Given the description of an element on the screen output the (x, y) to click on. 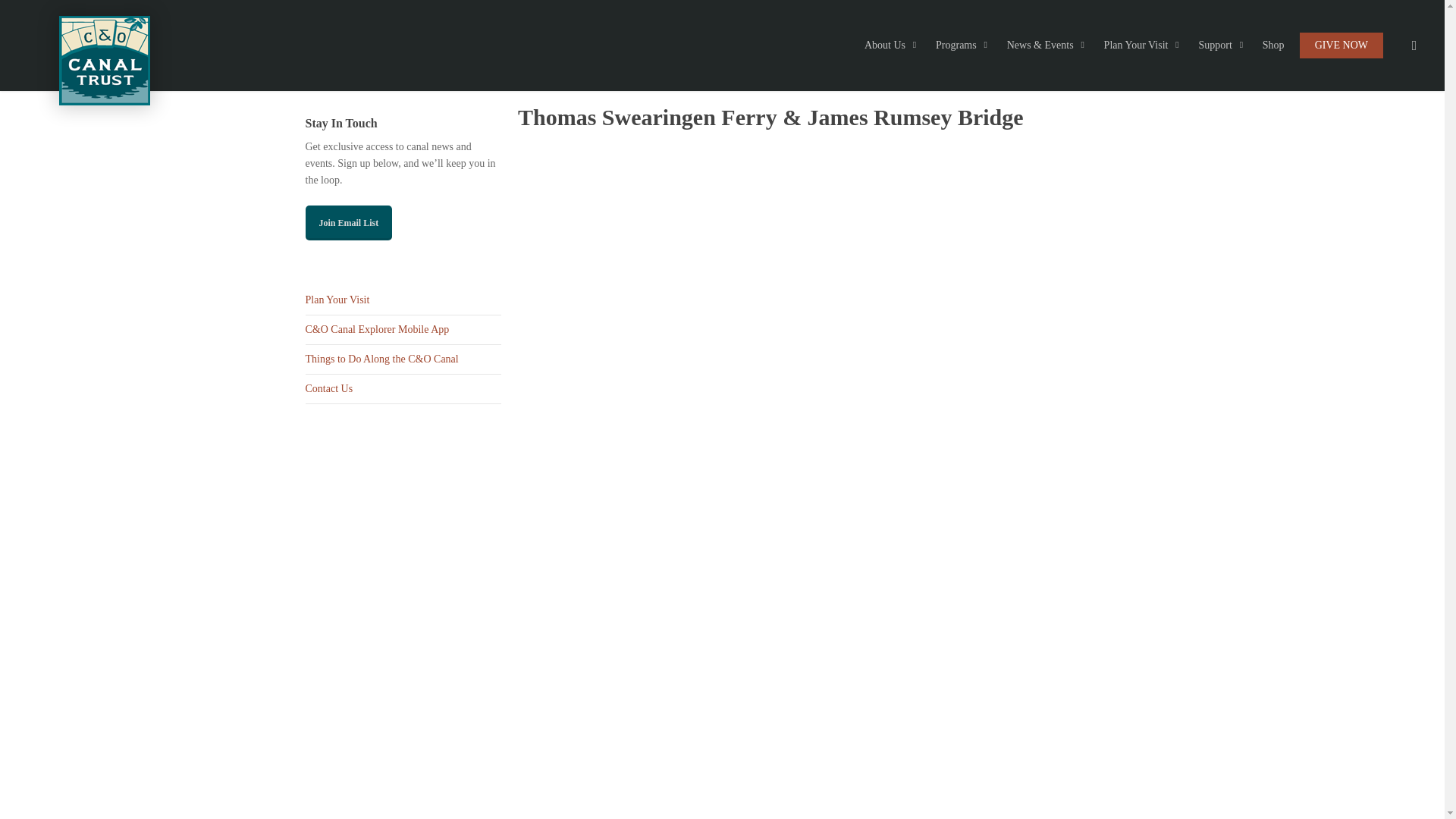
Shop (1273, 45)
About Us (892, 45)
search (1414, 45)
GIVE NOW (1341, 45)
Join Email List (347, 222)
Plan Your Visit (402, 300)
Support (1222, 45)
Plan Your Visit (1143, 45)
Programs (963, 45)
